Given the description of an element on the screen output the (x, y) to click on. 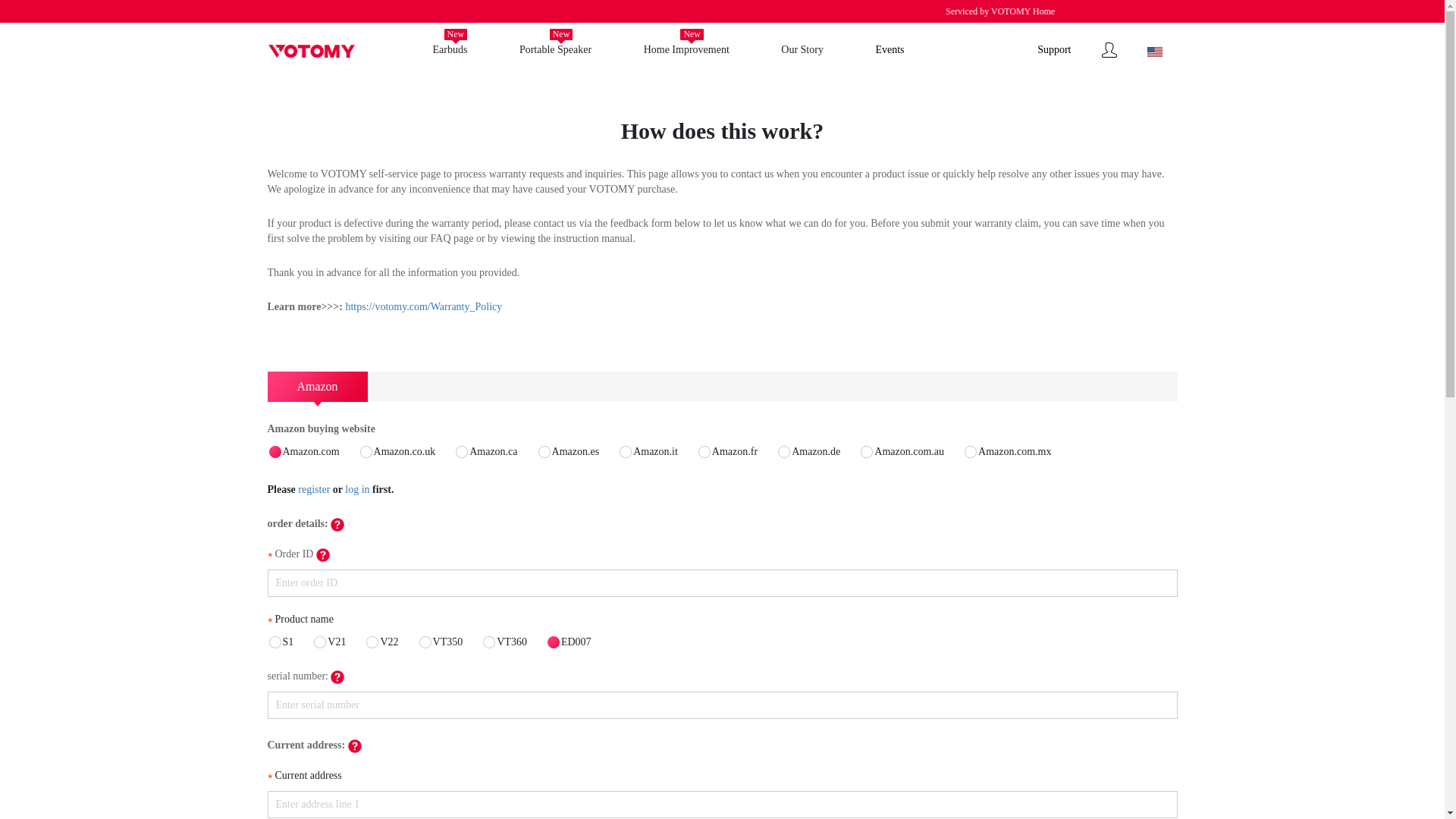
'SN:AXXXXXXX' located on the product (336, 675)
